Given the description of an element on the screen output the (x, y) to click on. 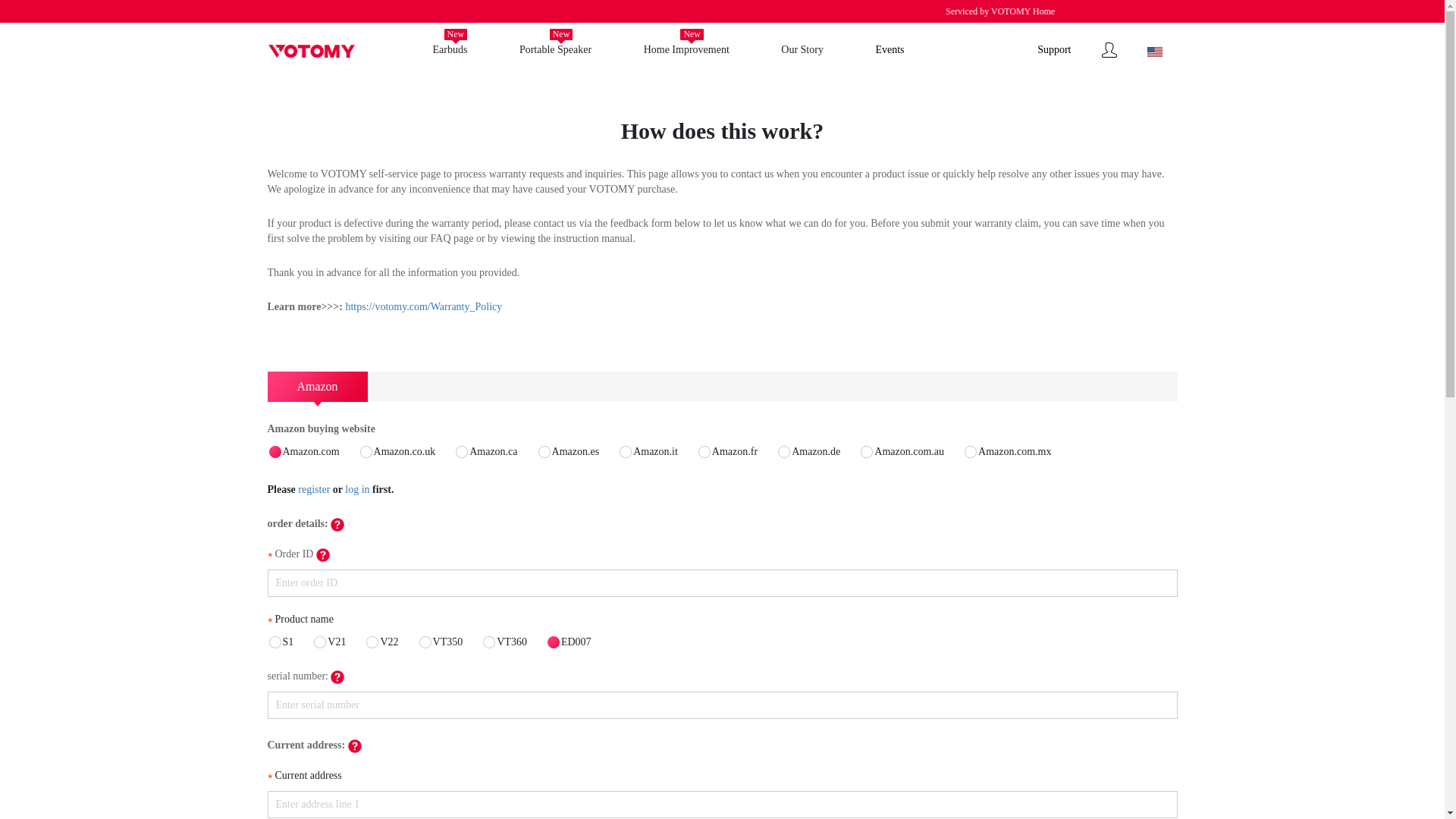
'SN:AXXXXXXX' located on the product (336, 675)
